Given the description of an element on the screen output the (x, y) to click on. 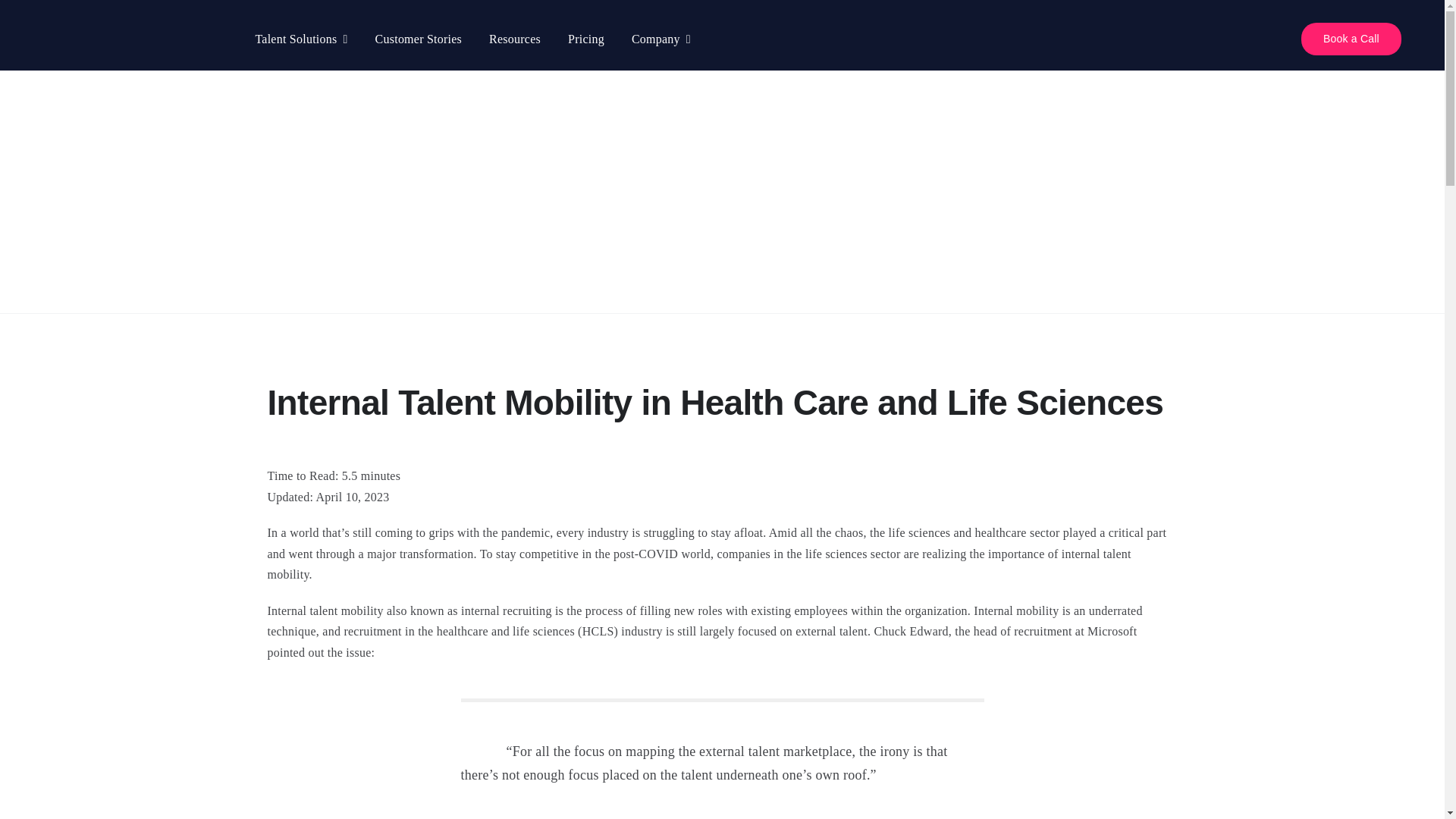
Book a Call (1350, 38)
Pricing (585, 38)
Resources (514, 38)
Talent Solutions (300, 38)
Customer Stories (419, 38)
Company (660, 38)
